Given the description of an element on the screen output the (x, y) to click on. 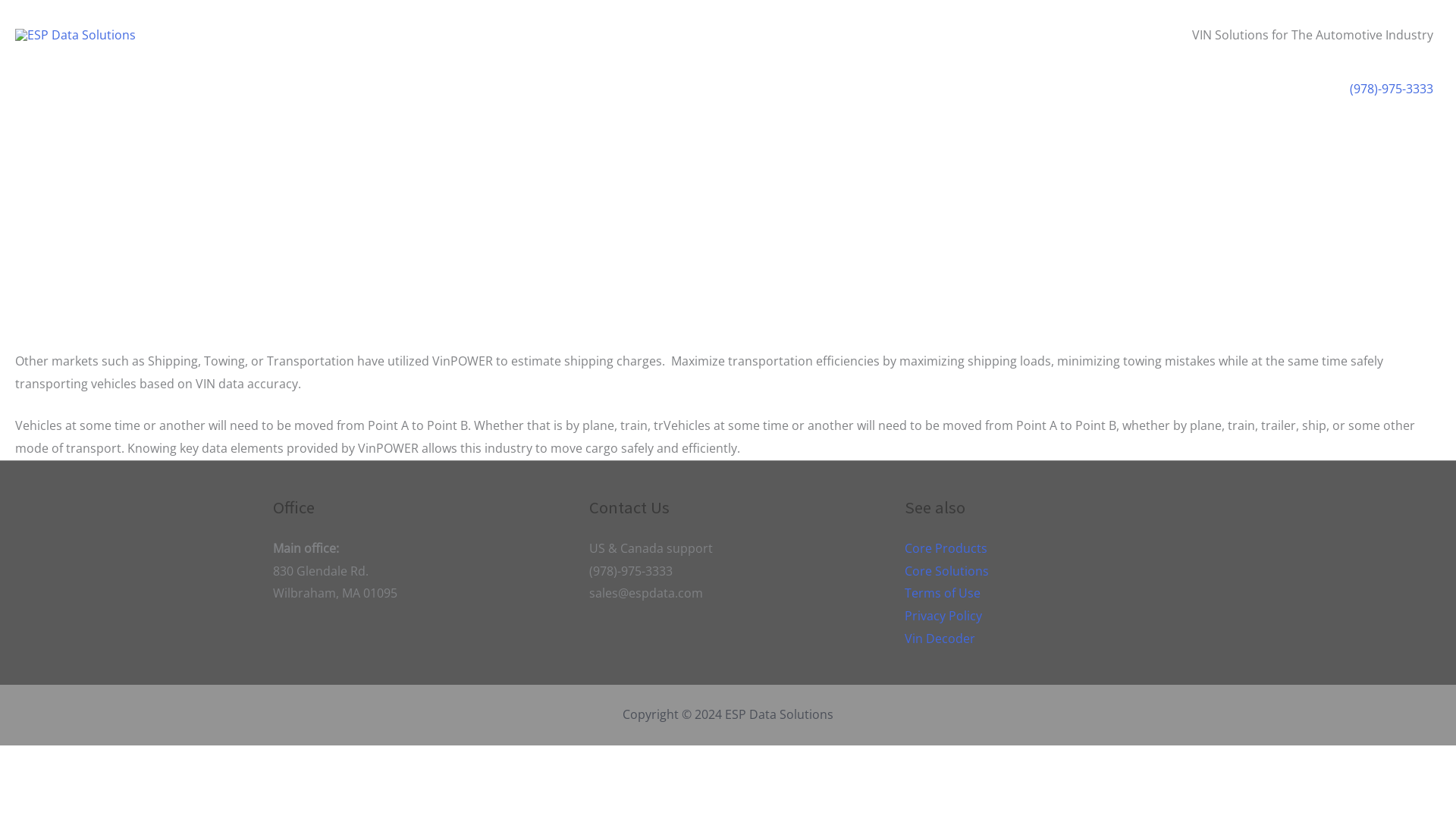
SERVICES (320, 88)
CORE PRODUCTS (134, 88)
Would you like to just call us? (1390, 88)
CONTACT (526, 88)
COMPANY OVERVIEW (423, 88)
HOME (46, 88)
INDUSTRIES (236, 88)
